Given the description of an element on the screen output the (x, y) to click on. 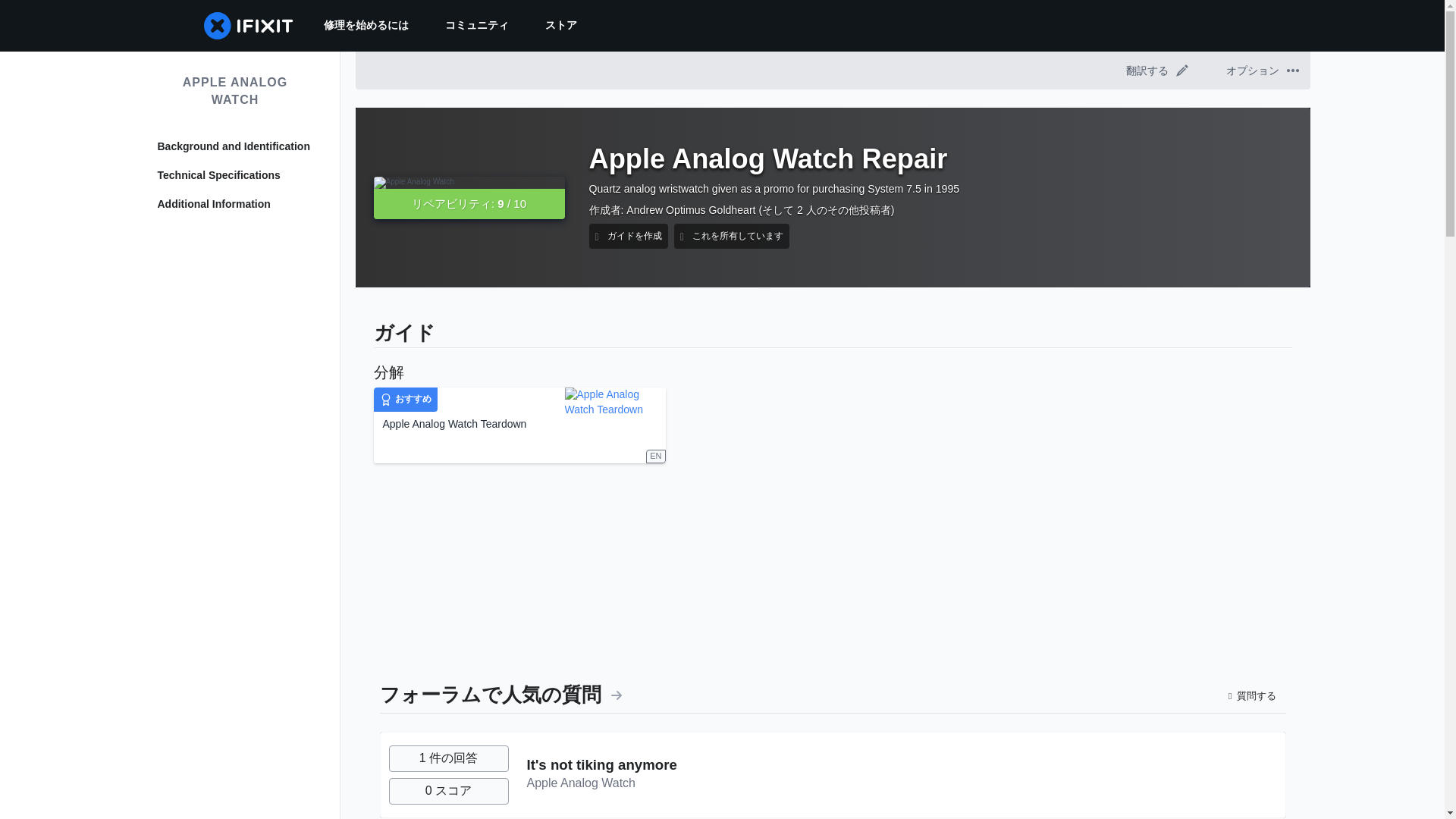
APPLE ANALOG WATCH (234, 91)
It's not tiking anymore (601, 764)
It's not tiking anymore (601, 764)
Andrew Optimus Goldheart (690, 209)
Apple Analog Watch (579, 782)
Additional Information (235, 204)
Technical Specifications (235, 175)
Background and Identification (235, 146)
